Given the description of an element on the screen output the (x, y) to click on. 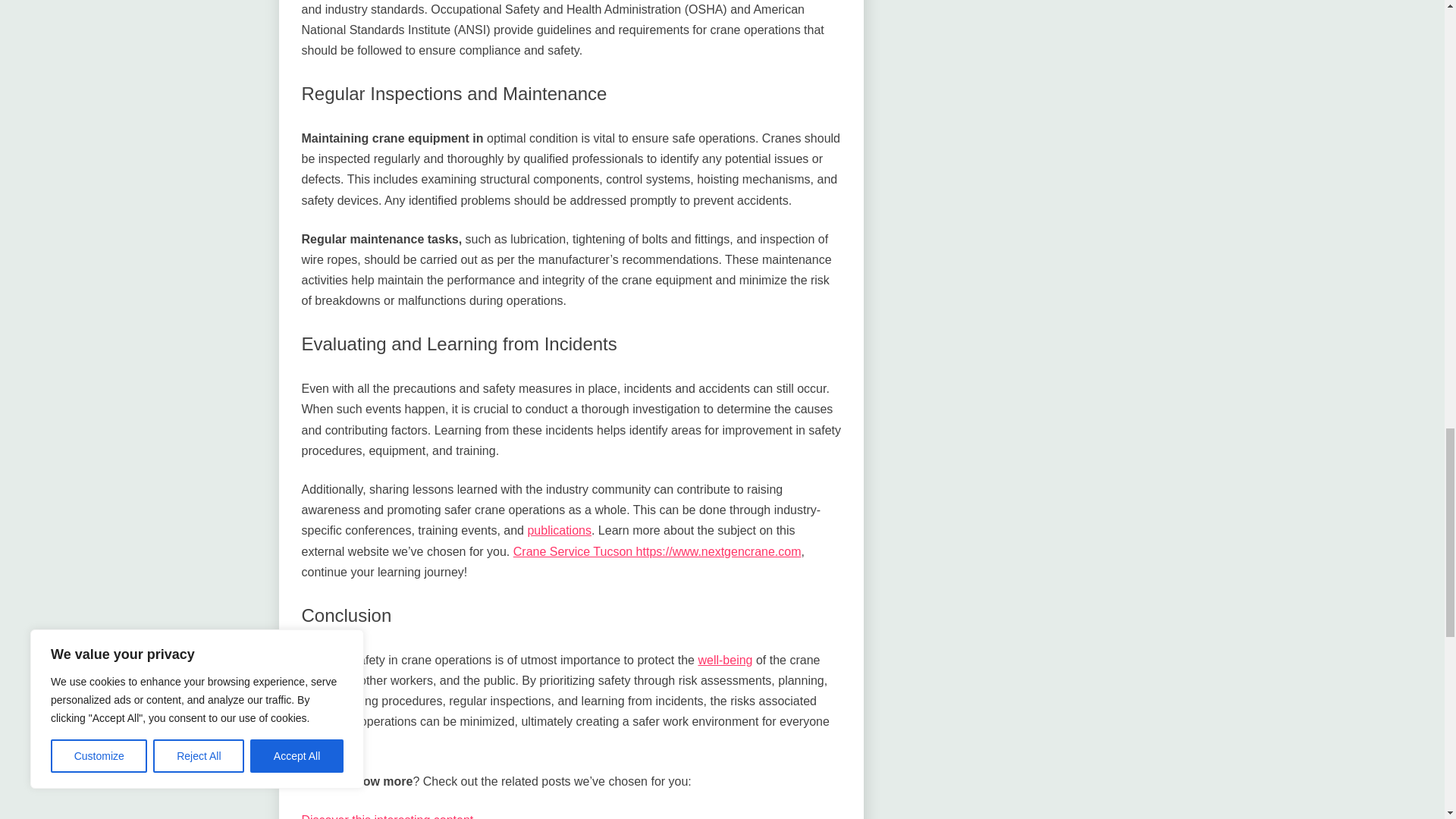
well-being (724, 659)
Discover this interesting content (387, 816)
publications (559, 530)
